Given the description of an element on the screen output the (x, y) to click on. 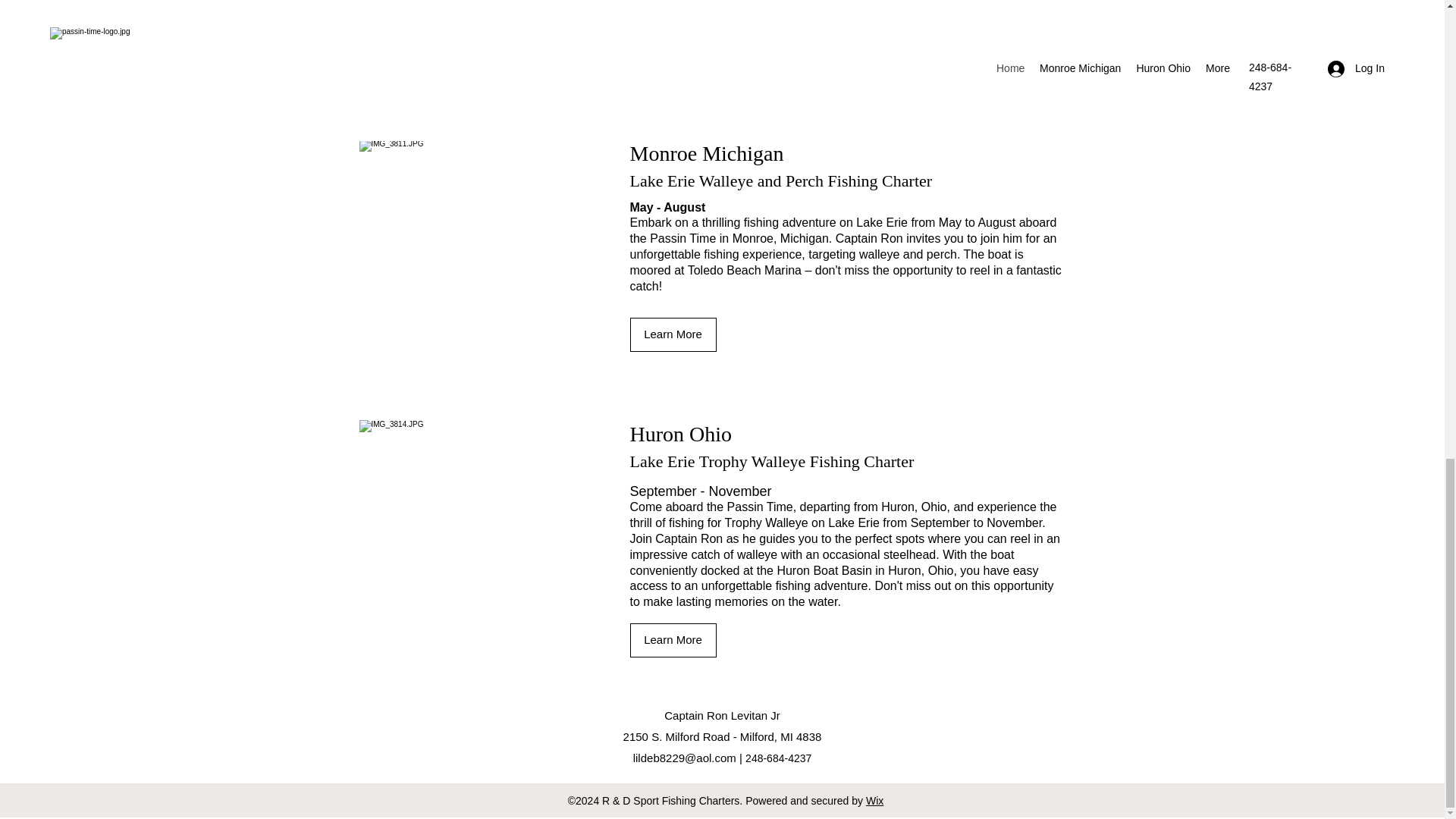
Learn More (672, 334)
Learn More (672, 640)
Wix (874, 800)
